Given the description of an element on the screen output the (x, y) to click on. 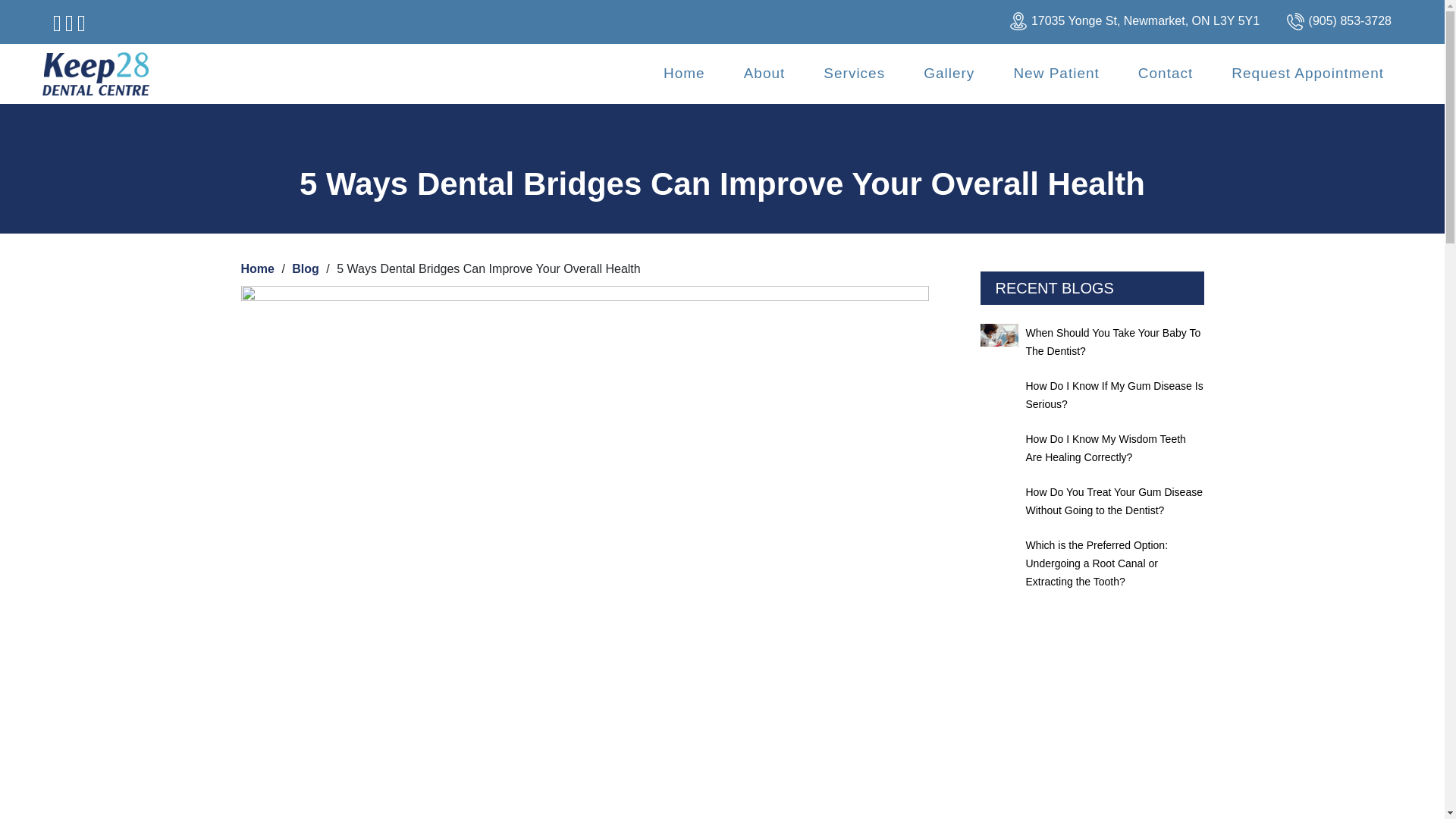
Services (854, 73)
17035 Yonge St, Newmarket, ON L3Y 5Y1 (1144, 20)
Keep 28 Dental (95, 73)
About (765, 73)
About (765, 73)
Home (684, 73)
Home (684, 73)
Services (854, 73)
